Given the description of an element on the screen output the (x, y) to click on. 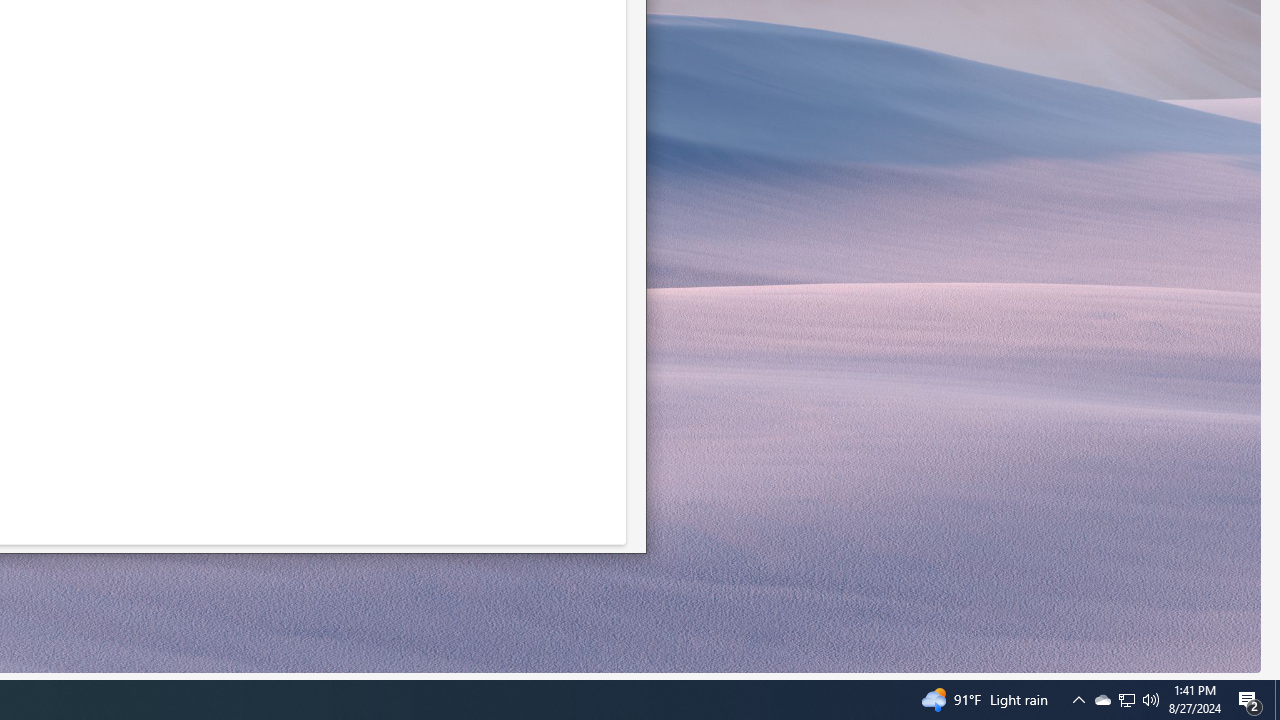
Notification Chevron (1126, 699)
User Promoted Notification Area (1078, 699)
Show desktop (1102, 699)
Action Center, 2 new notifications (1126, 699)
Q2790: 100% (1277, 699)
